Given the description of an element on the screen output the (x, y) to click on. 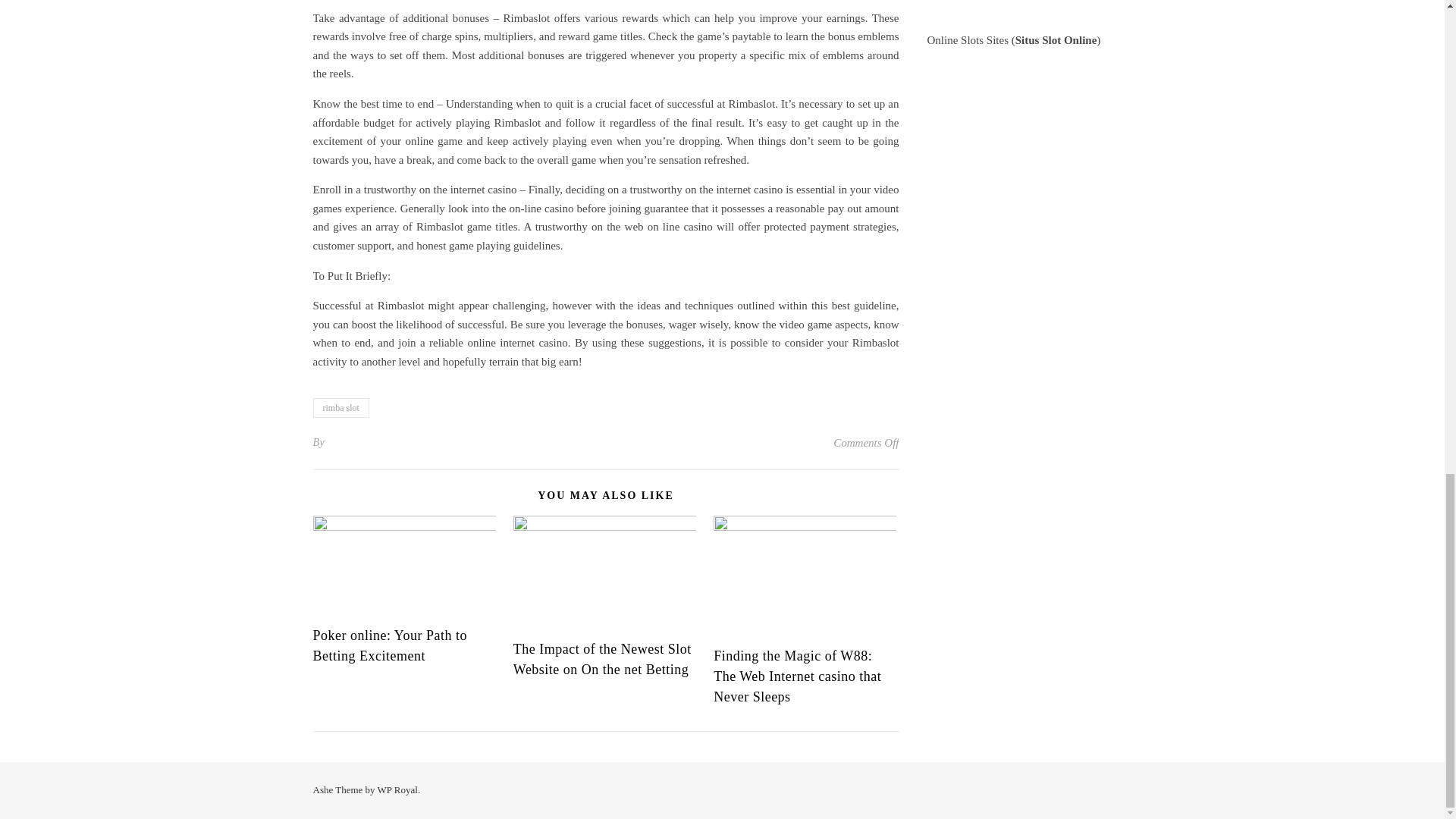
WP Royal (397, 789)
Poker online: Your Path to Betting Excitement (390, 645)
Situs Slot Online (1055, 39)
rimba slot (340, 407)
The Impact of the Newest Slot Website on On the net Betting (602, 659)
